Given the description of an element on the screen output the (x, y) to click on. 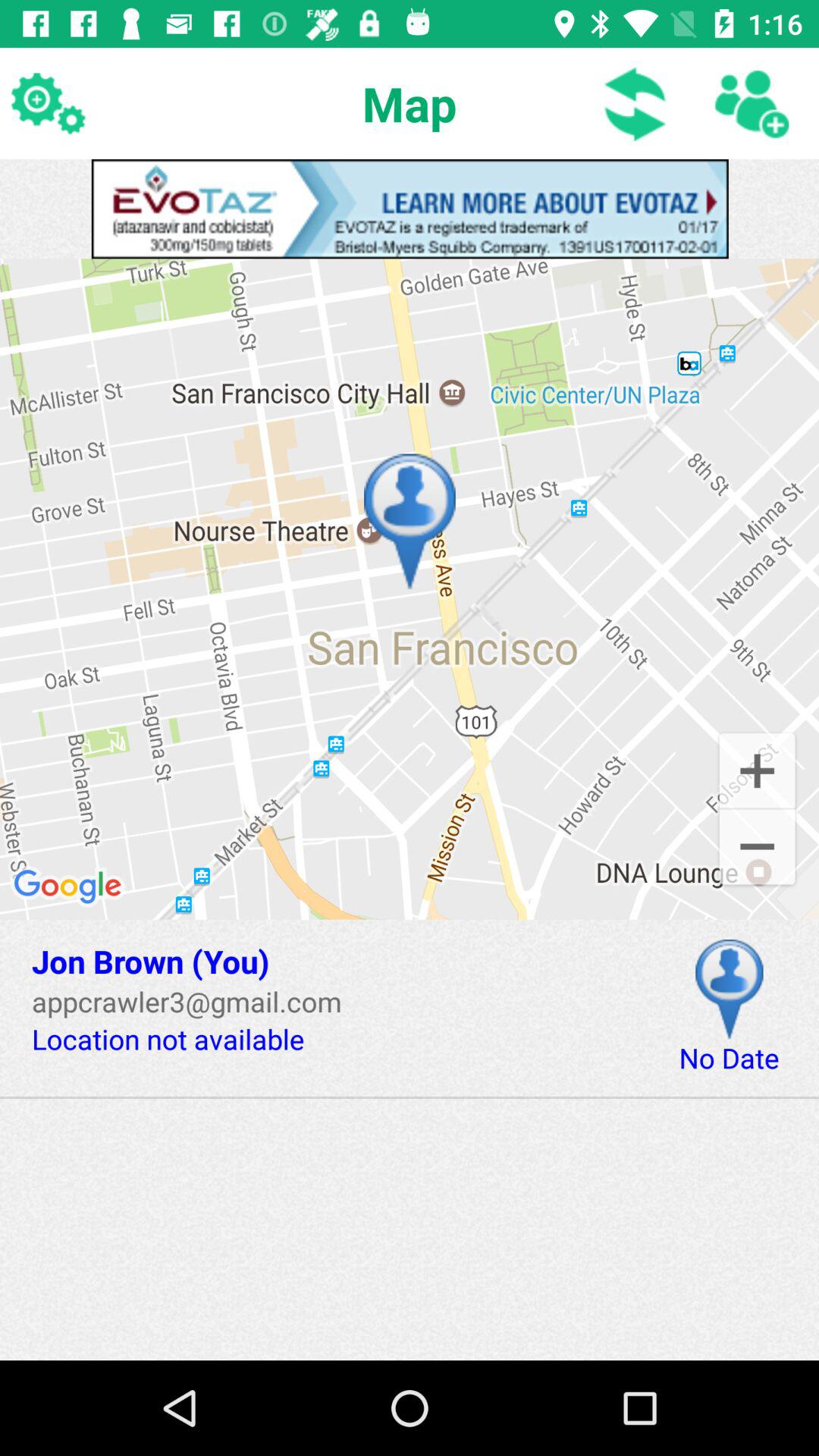
go to settings (47, 103)
